Given the description of an element on the screen output the (x, y) to click on. 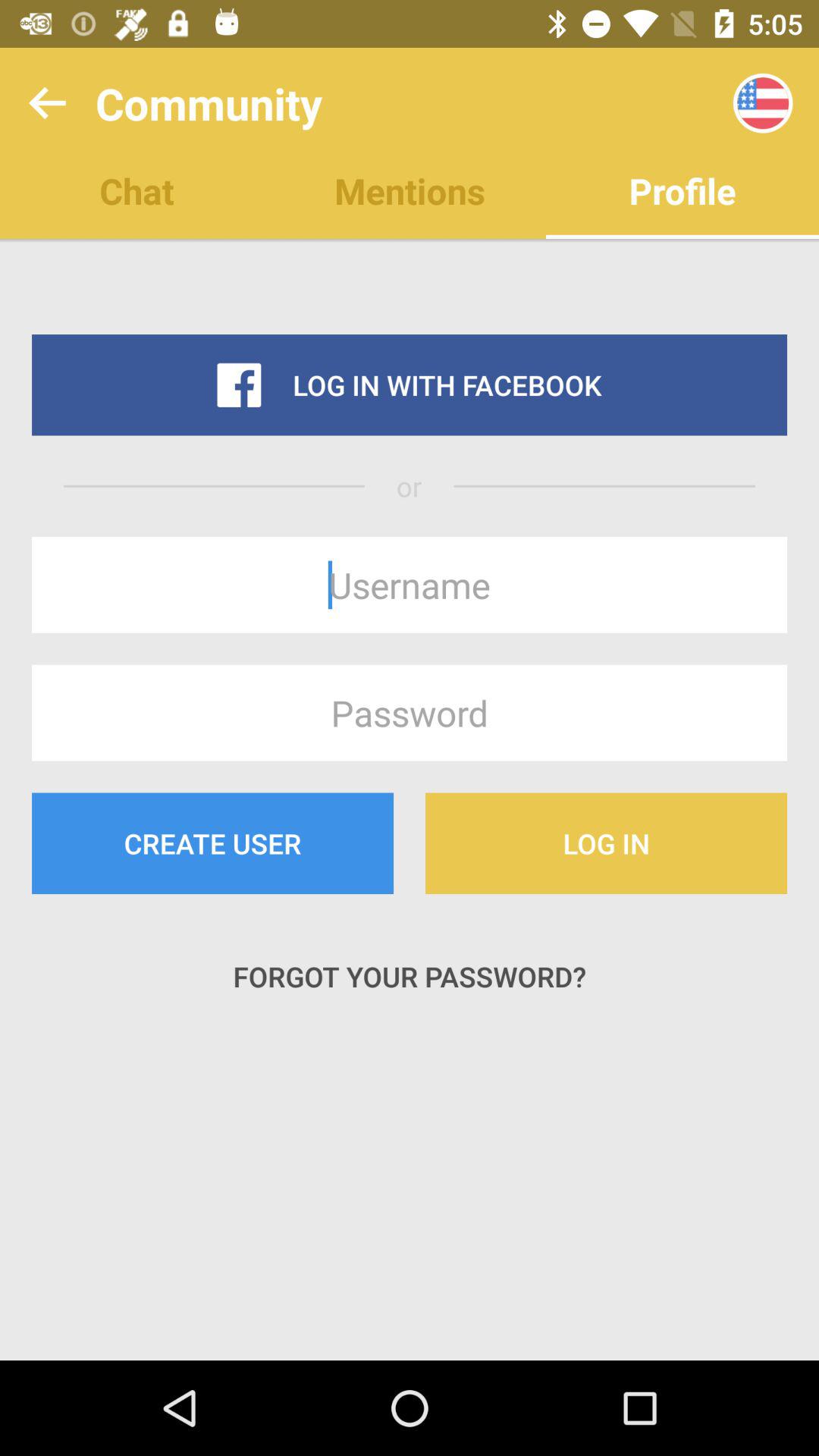
password input (409, 712)
